Given the description of an element on the screen output the (x, y) to click on. 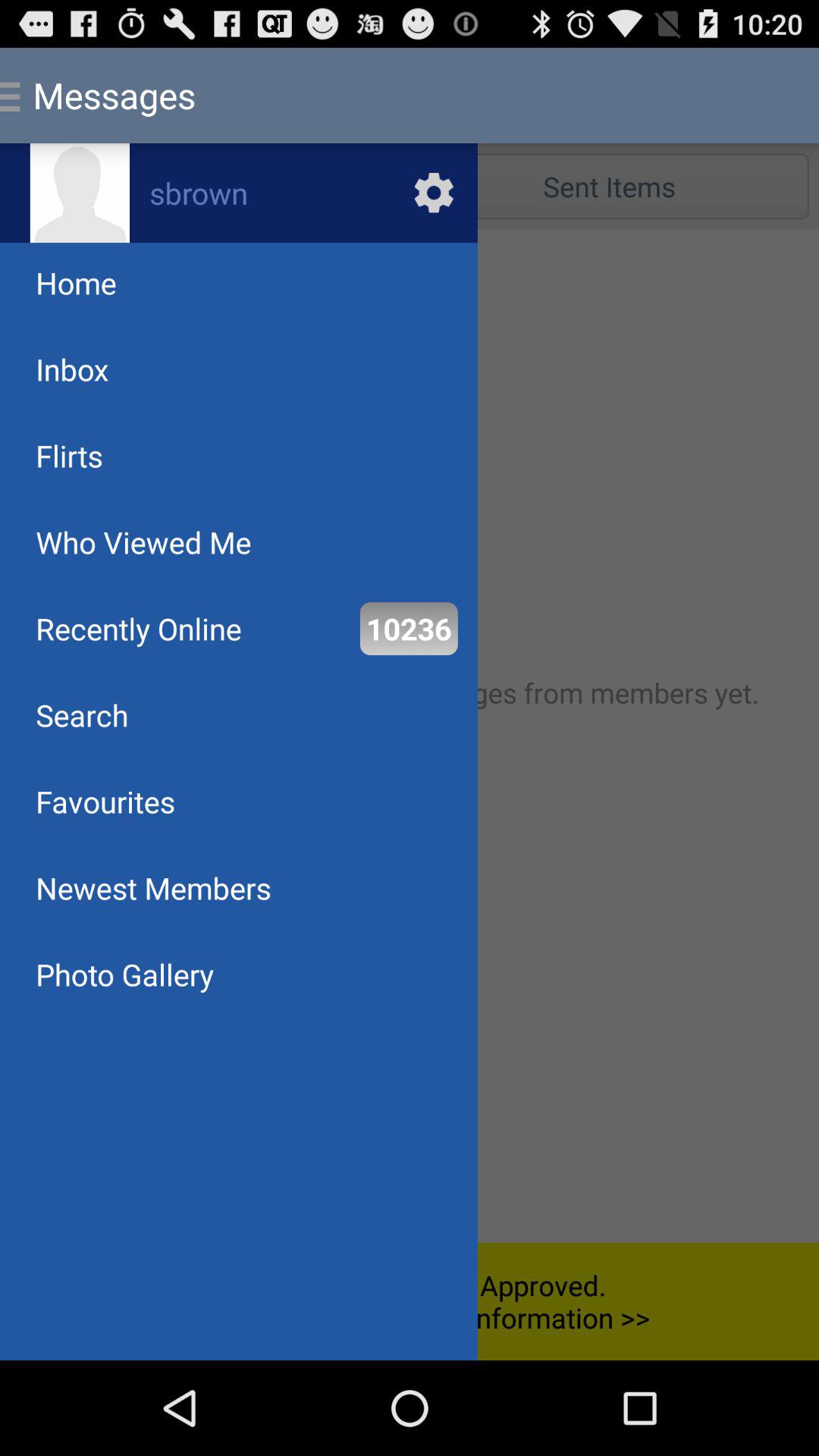
scroll until recently online app (138, 628)
